Given the description of an element on the screen output the (x, y) to click on. 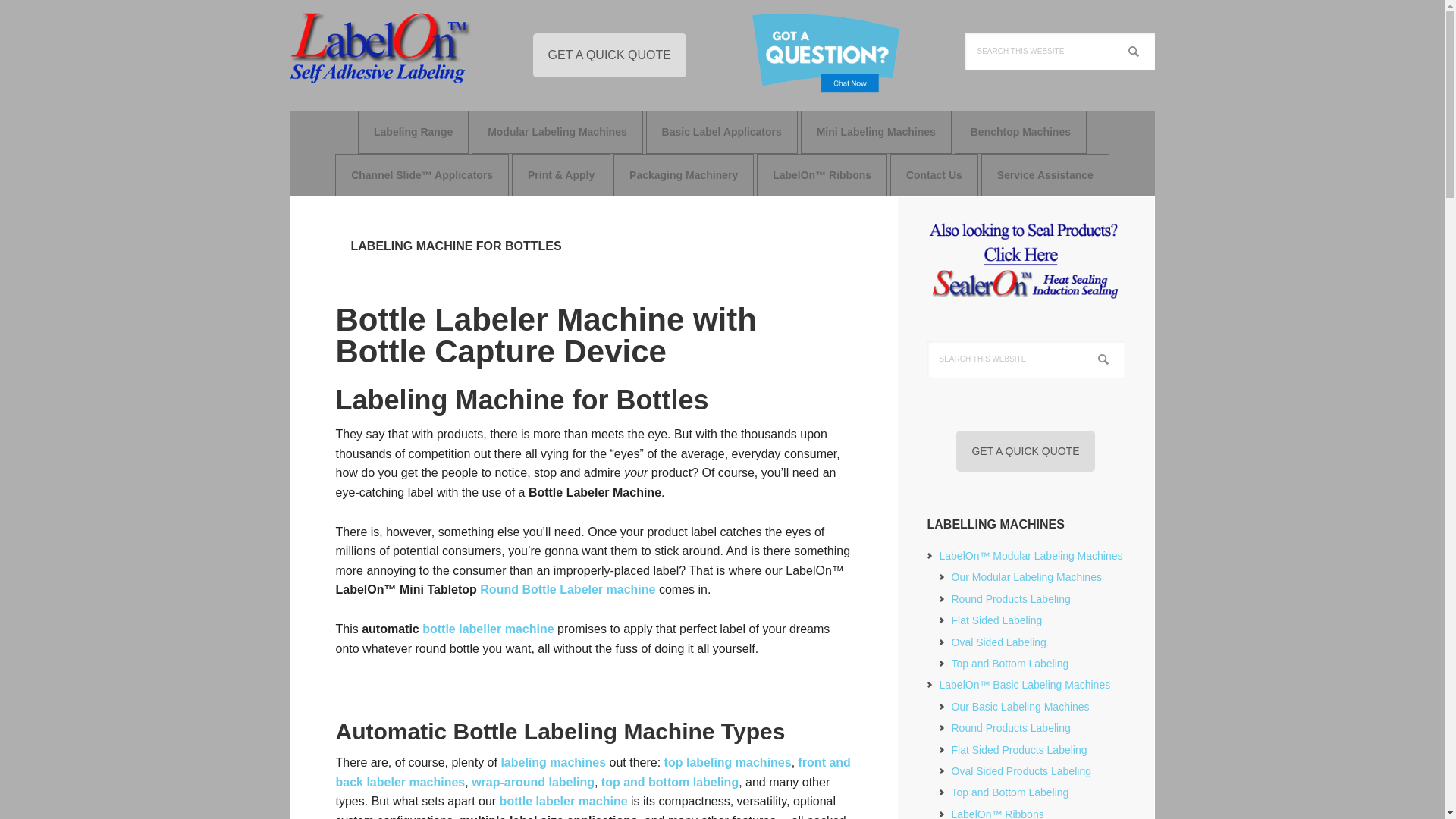
Basic Label Applicators Introduction (721, 131)
Introduction to Our Basic Labeling Machines (1019, 706)
Modular Oval Sided Labeling Application  (997, 642)
GET A QUICK QUOTE (608, 54)
Basic Round Products Label Application (1010, 727)
Basic Label Applicators (721, 131)
Modular Flat Sided Labeling Application  (996, 620)
Labeling Range (412, 131)
Mini Labeling Machines (876, 131)
Modular Top and Bottom Labeling Application  (1009, 663)
Basic Flat Sided Products Label Application (1018, 749)
Modular Labeler Machine Introduction (1025, 576)
